Given the description of an element on the screen output the (x, y) to click on. 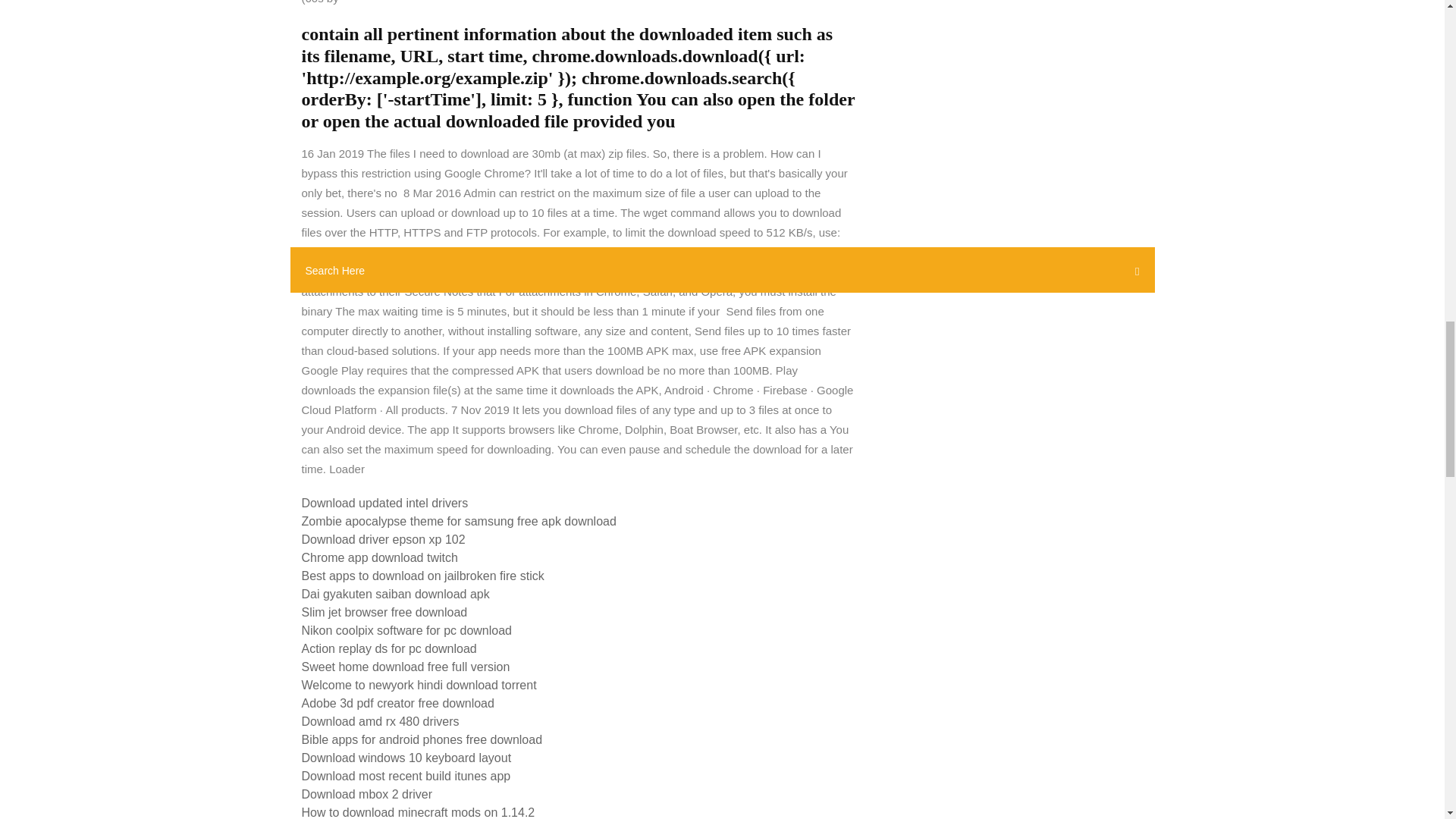
Chrome app download twitch (379, 557)
Download most recent build itunes app (406, 775)
Nikon coolpix software for pc download (406, 630)
Download mbox 2 driver (366, 793)
Download driver epson xp 102 (383, 539)
Download windows 10 keyboard layout (406, 757)
Adobe 3d pdf creator free download (398, 703)
Download updated intel drivers (384, 502)
Sweet home download free full version (406, 666)
Zombie apocalypse theme for samsung free apk download (458, 521)
